Given the description of an element on the screen output the (x, y) to click on. 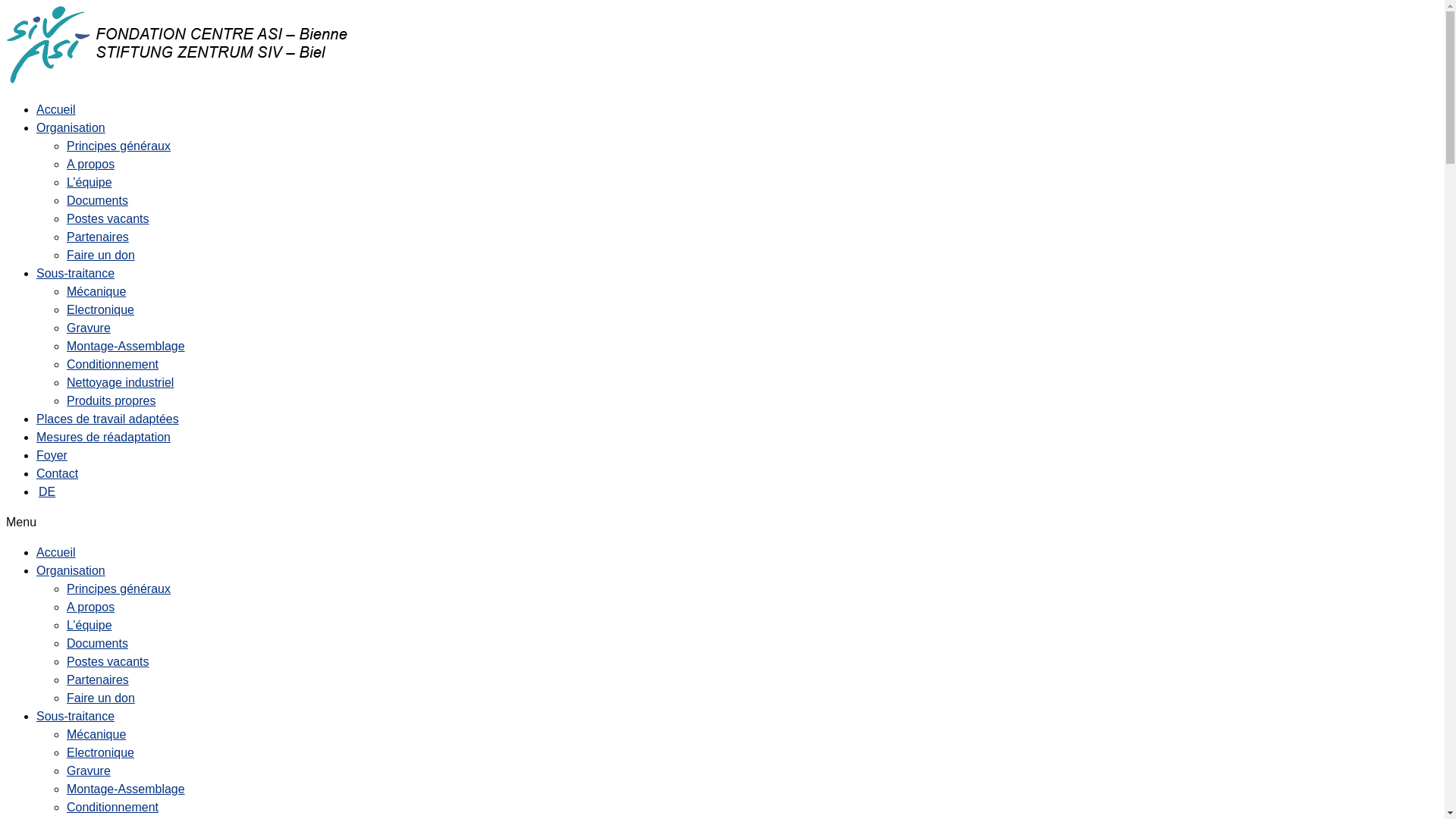
Conditionnement Element type: text (112, 806)
Conditionnement Element type: text (112, 363)
Documents Element type: text (97, 200)
Foyer Element type: text (51, 454)
Gravure Element type: text (88, 327)
Montage-Assemblage Element type: text (125, 345)
Montage-Assemblage Element type: text (125, 788)
Produits propres Element type: text (110, 400)
A propos Element type: text (90, 606)
Contact Element type: text (57, 473)
Gravure Element type: text (88, 770)
Faire un don Element type: text (100, 254)
Nettoyage industriel Element type: text (119, 382)
Organisation Element type: text (70, 570)
Sous-traitance Element type: text (75, 715)
Partenaires Element type: text (97, 236)
Faire un don Element type: text (100, 697)
A propos Element type: text (90, 163)
Accueil Element type: text (55, 552)
Sous-traitance Element type: text (75, 272)
Organisation Element type: text (70, 127)
Documents Element type: text (97, 643)
Accueil Element type: text (55, 109)
Electronique Element type: text (100, 309)
DE Element type: text (45, 491)
Aller au contenu Element type: text (5, 5)
Electronique Element type: text (100, 752)
Postes vacants Element type: text (107, 218)
Partenaires Element type: text (97, 679)
Postes vacants Element type: text (107, 661)
